Given the description of an element on the screen output the (x, y) to click on. 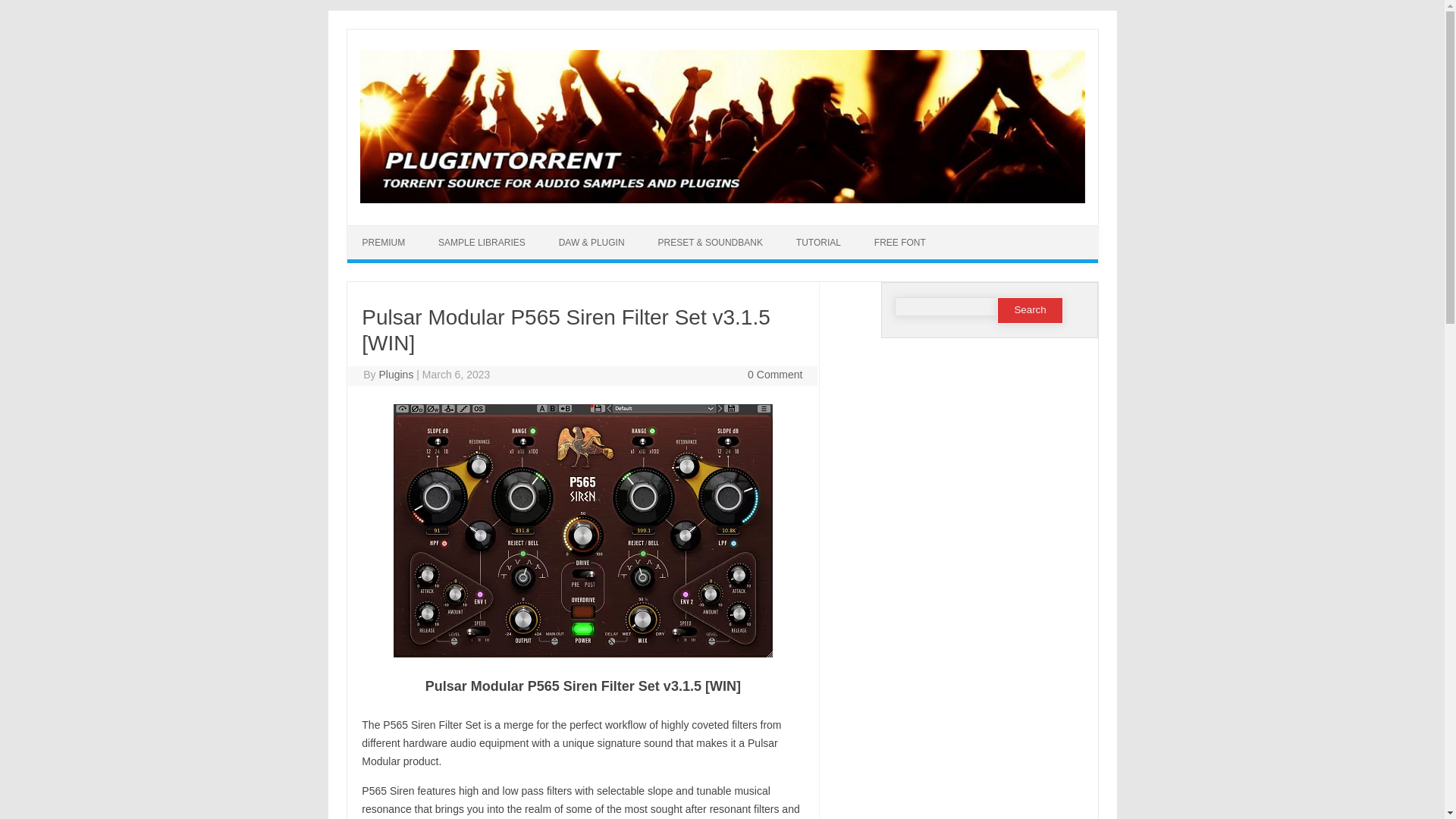
0 Comment (775, 374)
Search (1029, 310)
Skip to content (757, 230)
Plugintorrent (721, 199)
TUTORIAL (818, 242)
Plugins (395, 374)
Posts by Plugins (395, 374)
PREMIUM (383, 242)
SAMPLE LIBRARIES (481, 242)
FREE FONT (899, 242)
Search (1029, 310)
Skip to content (757, 230)
